Given the description of an element on the screen output the (x, y) to click on. 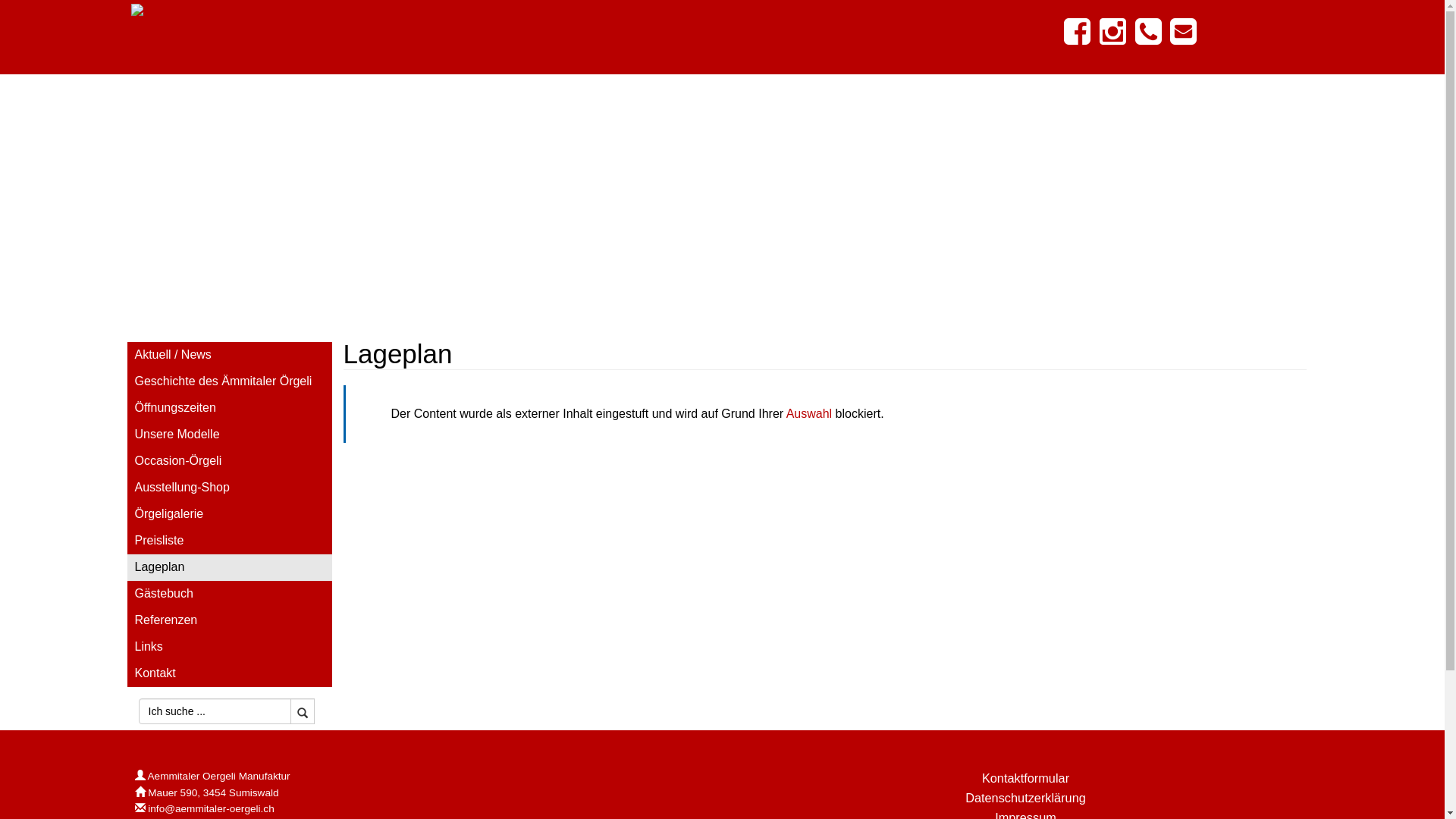
Links Element type: text (229, 646)
Kontaktformular Element type: text (1025, 777)
Lageplan Element type: text (229, 567)
Preisliste Element type: text (229, 540)
Ausstellung-Shop Element type: text (229, 487)
Aktuell / News Element type: text (229, 355)
Auswahl Element type: text (808, 413)
Unsere Modelle Element type: text (229, 434)
Kontakt Element type: text (229, 673)
Referenzen Element type: text (229, 620)
